Given the description of an element on the screen output the (x, y) to click on. 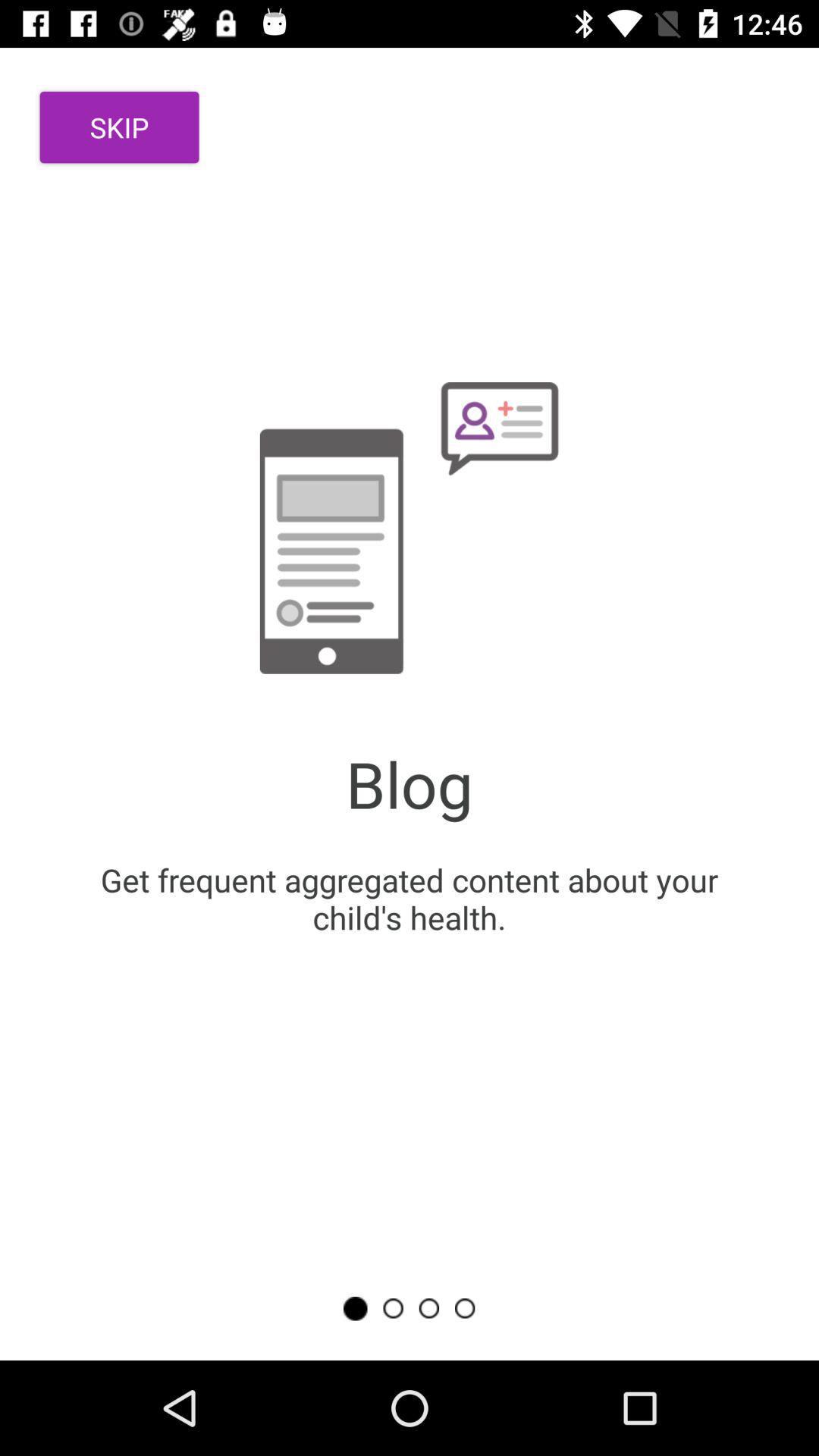
press skip item (119, 127)
